Given the description of an element on the screen output the (x, y) to click on. 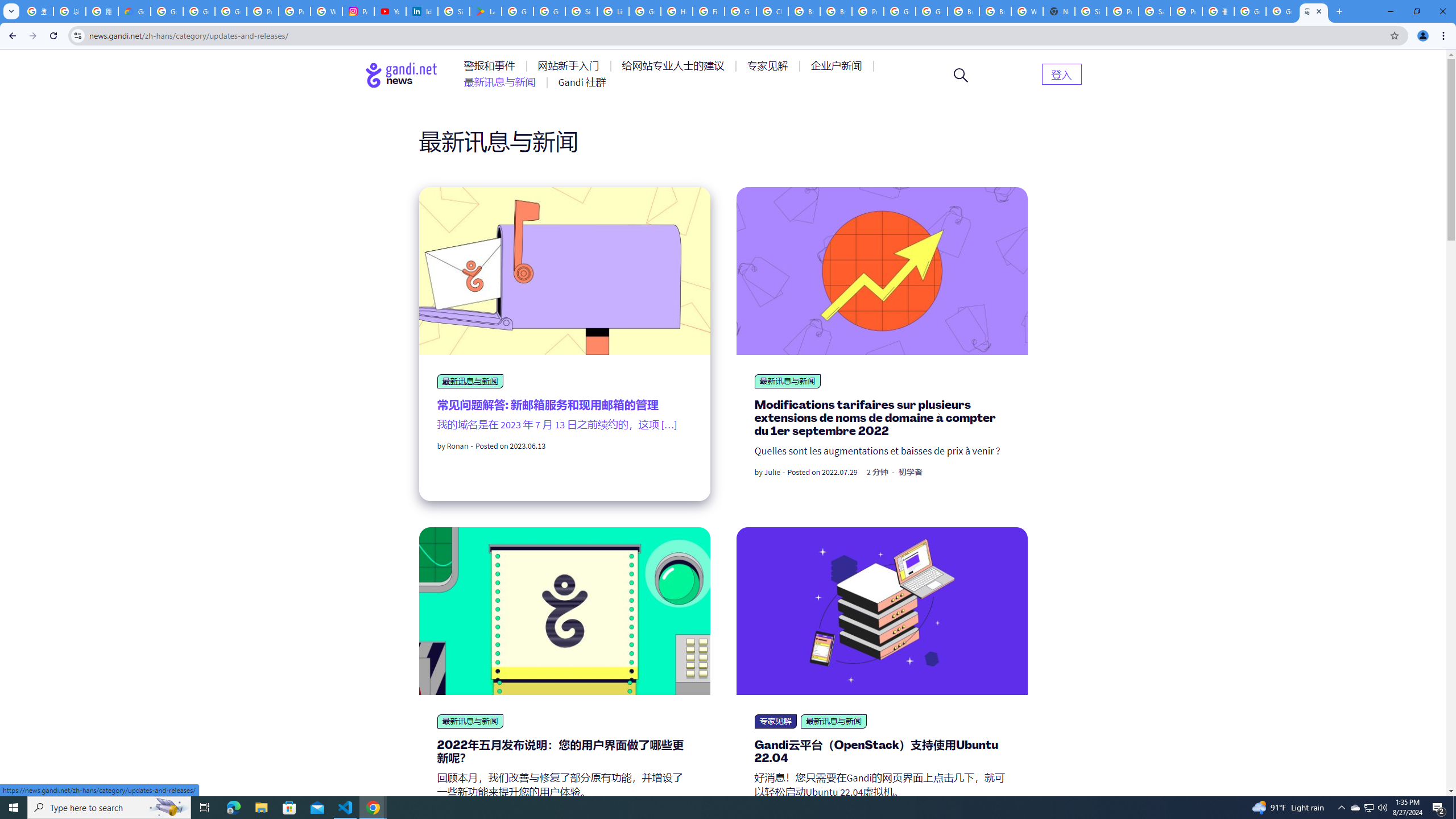
Sign in - Google Accounts (581, 11)
Privacy Help Center - Policies Help (294, 11)
Open search form (960, 74)
AutomationID: menu-item-77763 (674, 65)
AutomationID: menu-item-77765 (838, 65)
Go to home (401, 75)
